Given the description of an element on the screen output the (x, y) to click on. 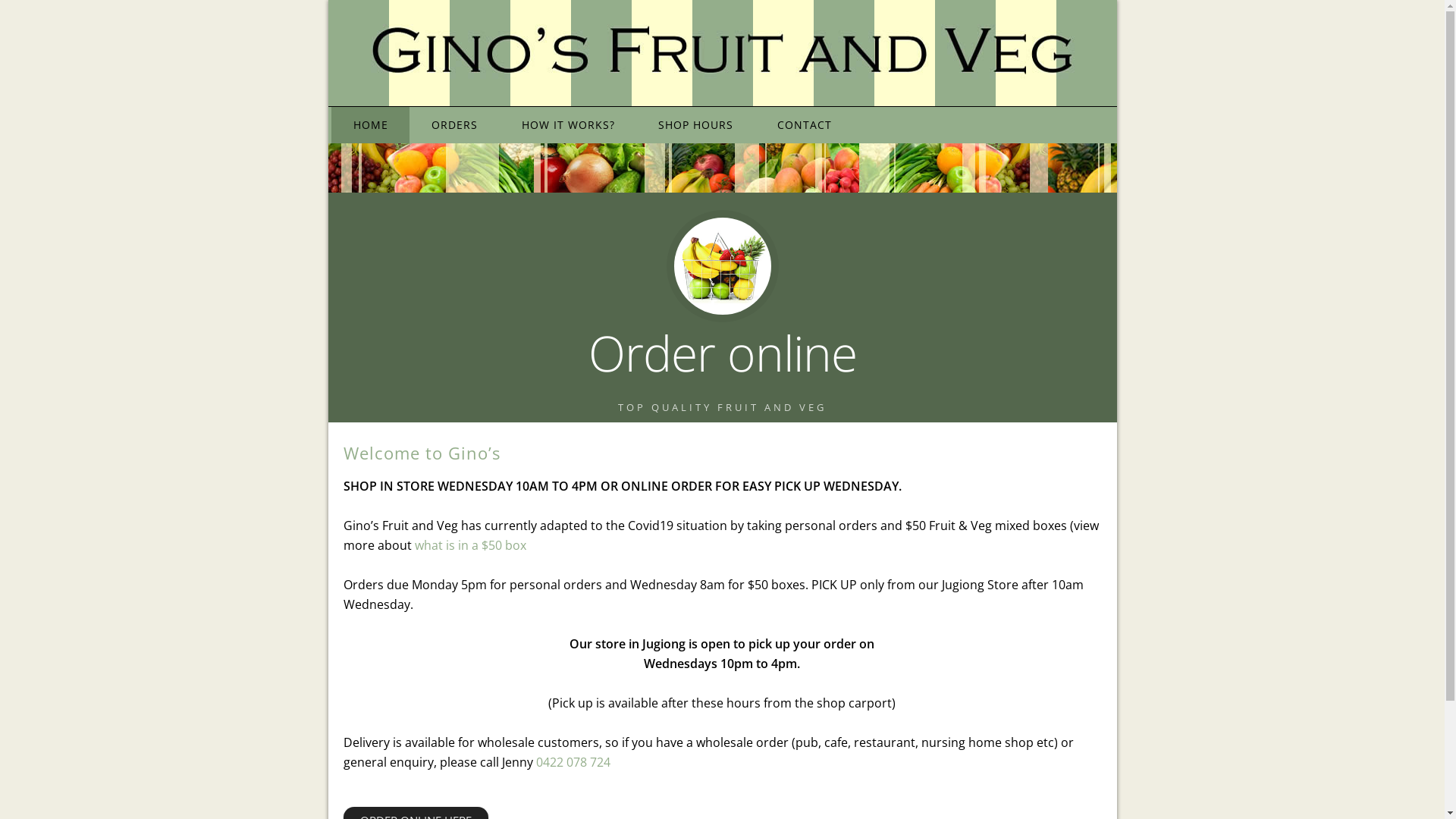
0422 078 724 Element type: text (573, 761)
Gino's Fruit & Veg, Jugiong Element type: hover (721, 265)
HOW IT WORKS? Element type: text (568, 124)
SHOP HOURS Element type: text (696, 124)
Order online
TOP QUALITY FRUIT AND VEG Element type: text (721, 310)
banner Gino's Fruit & Veg, Jugiong Element type: hover (721, 167)
SKIP TO PRIMARY CONTENT Element type: text (357, 106)
HOME Element type: text (370, 124)
what is in a $50 box Element type: text (470, 544)
CONTACT Element type: text (804, 124)
ORDERS Element type: text (454, 124)
Gino's Fruit & Veg, Jugiong Element type: hover (721, 53)
